Given the description of an element on the screen output the (x, y) to click on. 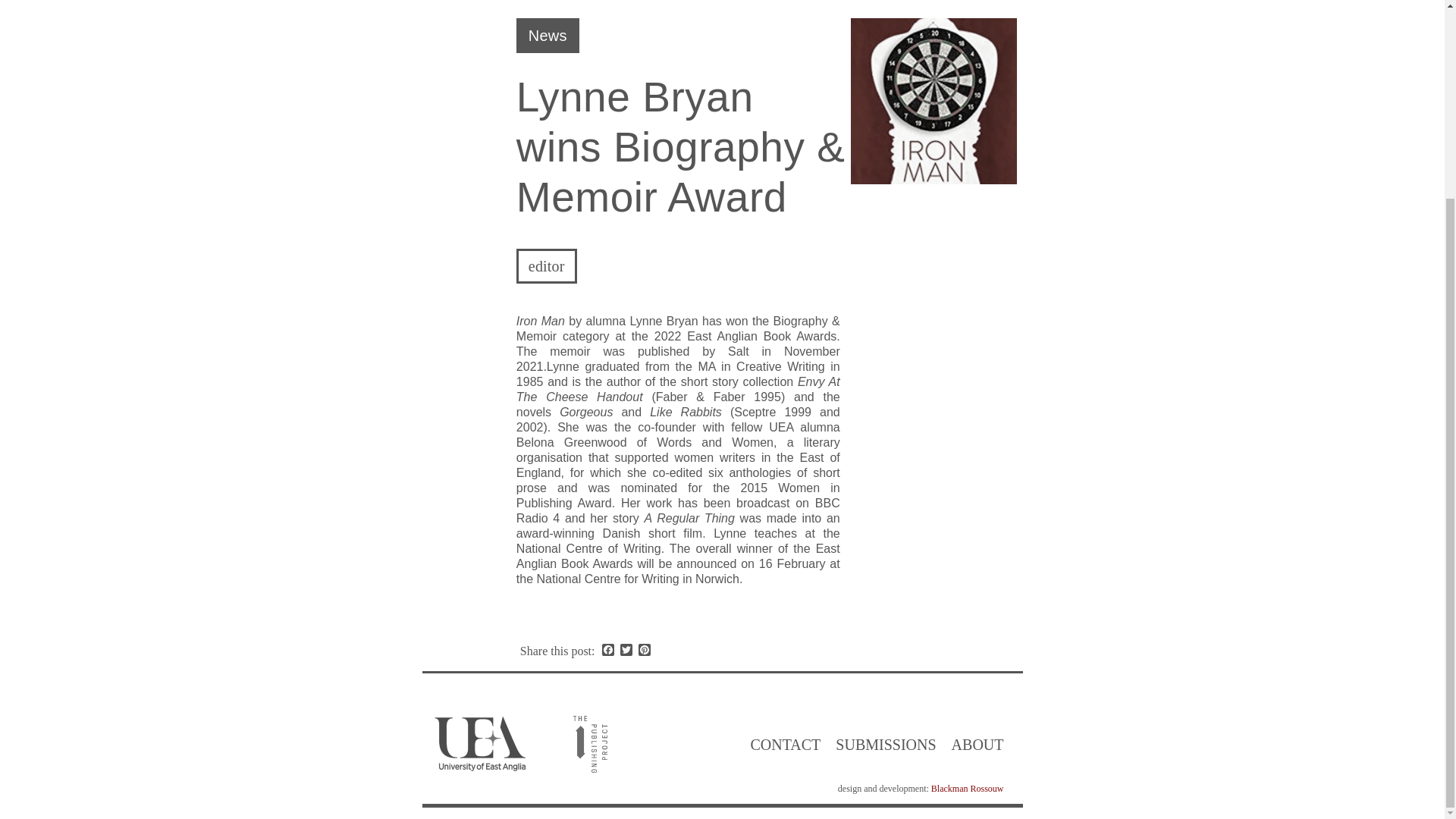
SUBMISSIONS (885, 744)
Twitter (625, 650)
Pinterest (643, 650)
ABOUT (977, 744)
editor (546, 265)
News (547, 35)
Facebook (607, 650)
Facebook (607, 650)
Blackman Rossouw (967, 787)
Pinterest (643, 650)
